Given the description of an element on the screen output the (x, y) to click on. 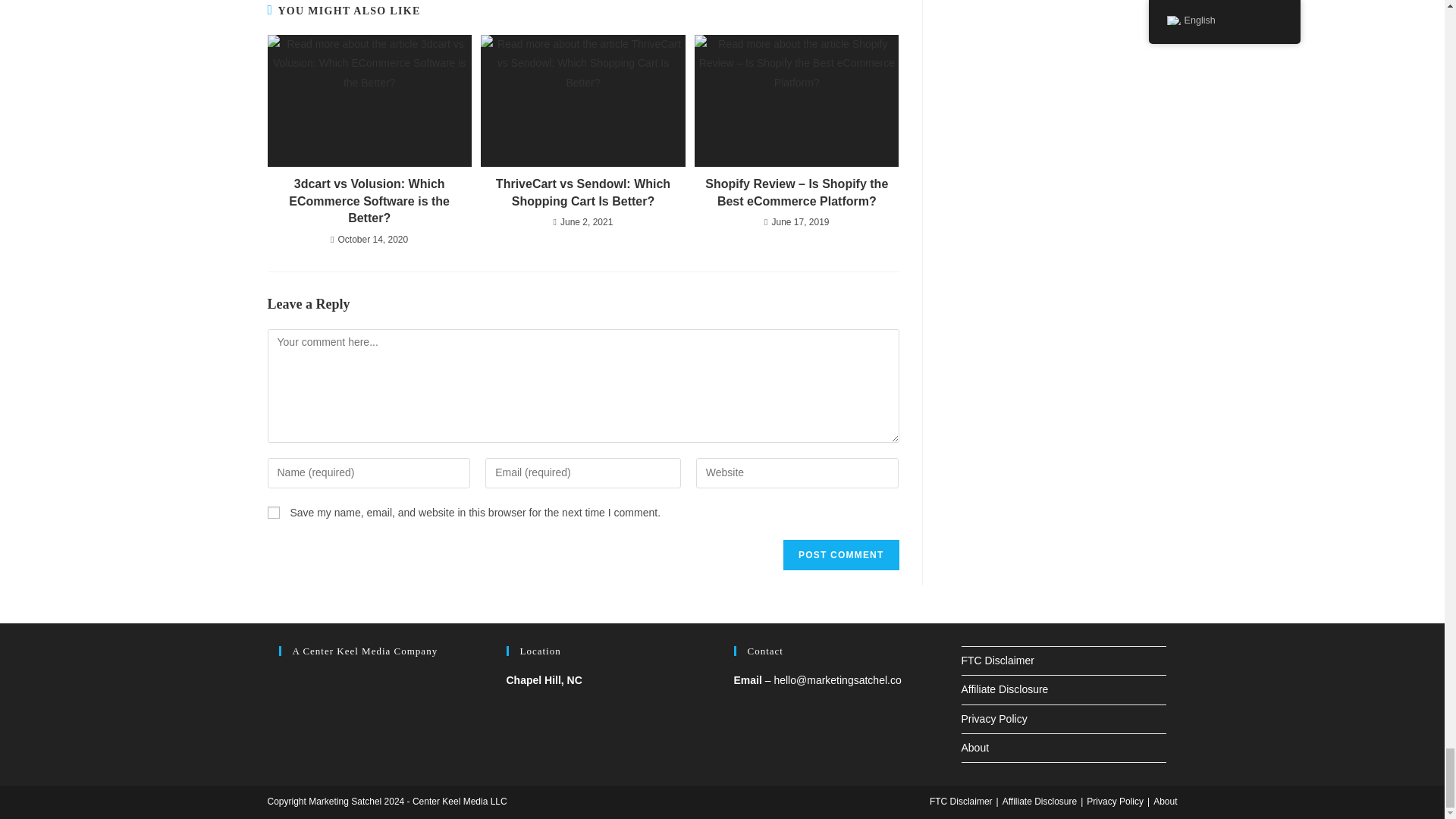
Post Comment (840, 554)
yes (272, 512)
